Given the description of an element on the screen output the (x, y) to click on. 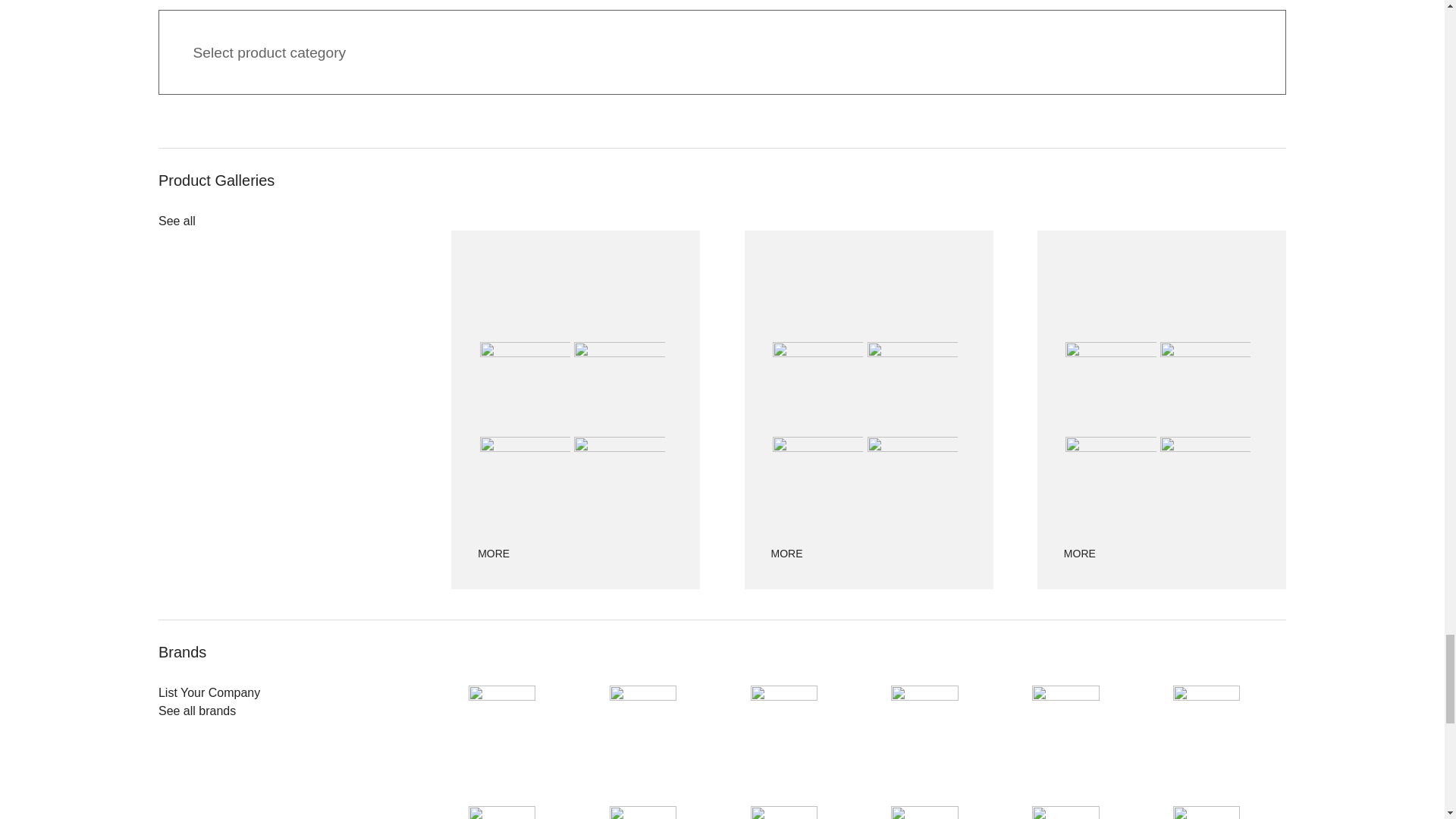
MICHIGAN ALUMINIUM Large Chaise Longue (525, 481)
MILAN Chaise Longue (618, 387)
Vista (912, 481)
Rondure Outdoor Bench Single Seat with Backrest (818, 387)
Michigan ALUMINIUM chaise longue (618, 481)
Rondure Outdoor Bench Double Seat (818, 481)
